Given the description of an element on the screen output the (x, y) to click on. 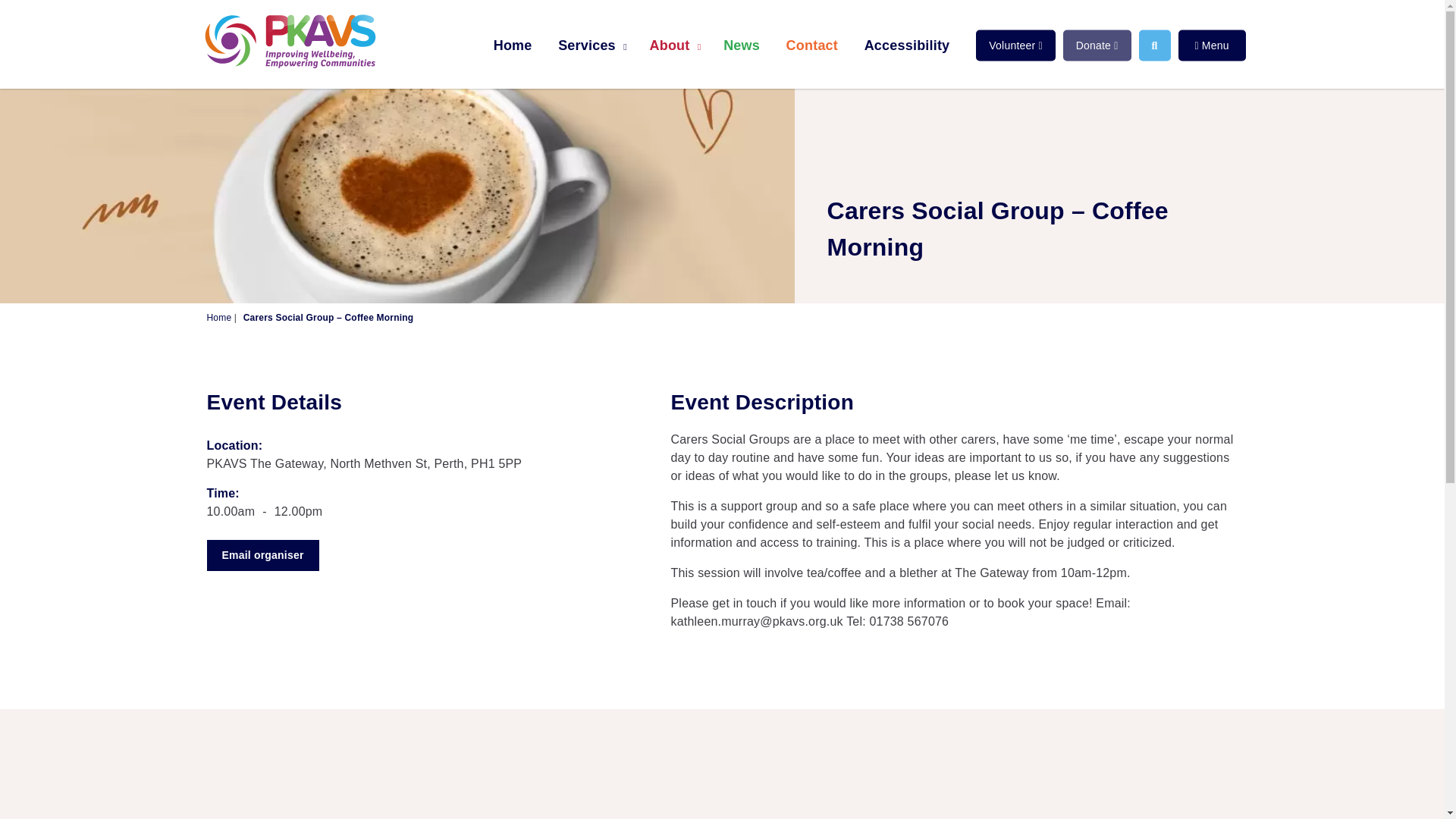
Contact (811, 45)
Accessibility (906, 45)
Home (512, 45)
News (741, 45)
Donate (1096, 45)
PKAVS (289, 41)
About (672, 45)
Volunteer (1014, 45)
Services (590, 45)
